Given the description of an element on the screen output the (x, y) to click on. 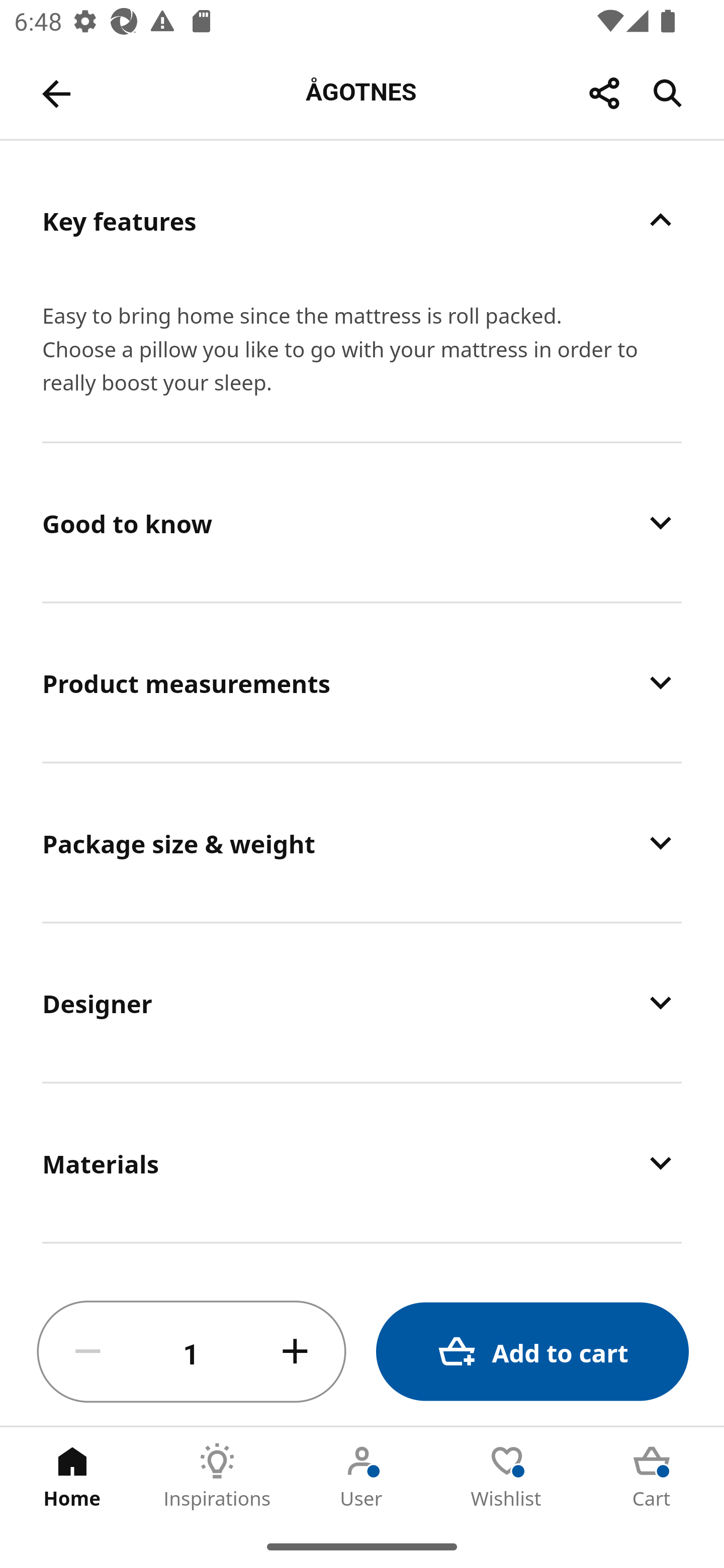
Key features (361, 219)
Good to know (361, 522)
Product measurements (361, 682)
Package size & weight (361, 842)
Designer (361, 1002)
Materials (361, 1162)
Add to cart (531, 1352)
1 (191, 1352)
Home
Tab 1 of 5 (72, 1476)
Inspirations
Tab 2 of 5 (216, 1476)
User
Tab 3 of 5 (361, 1476)
Wishlist
Tab 4 of 5 (506, 1476)
Cart
Tab 5 of 5 (651, 1476)
